Given the description of an element on the screen output the (x, y) to click on. 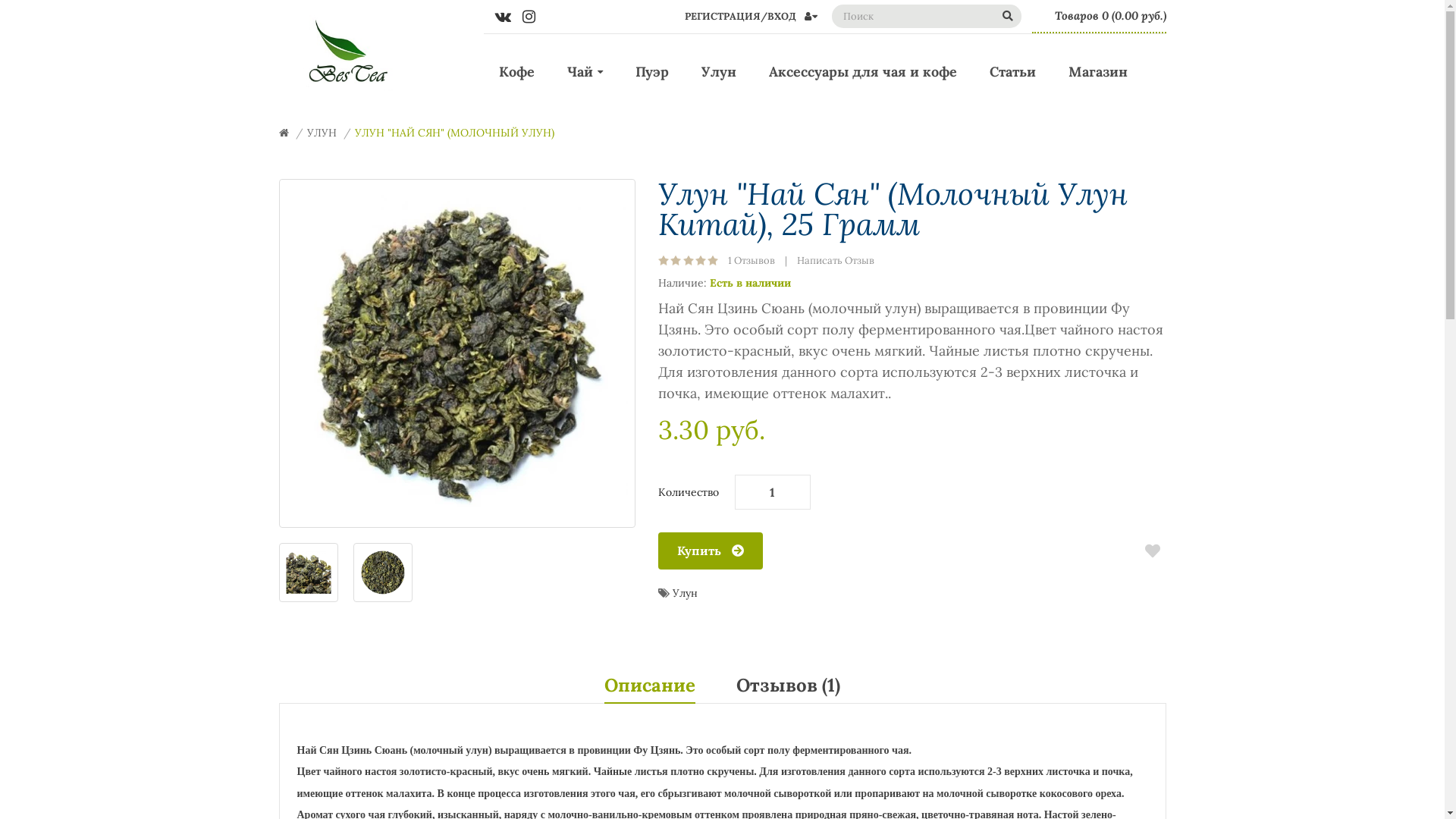
"BesTea"  Element type: hover (345, 53)
